Given the description of an element on the screen output the (x, y) to click on. 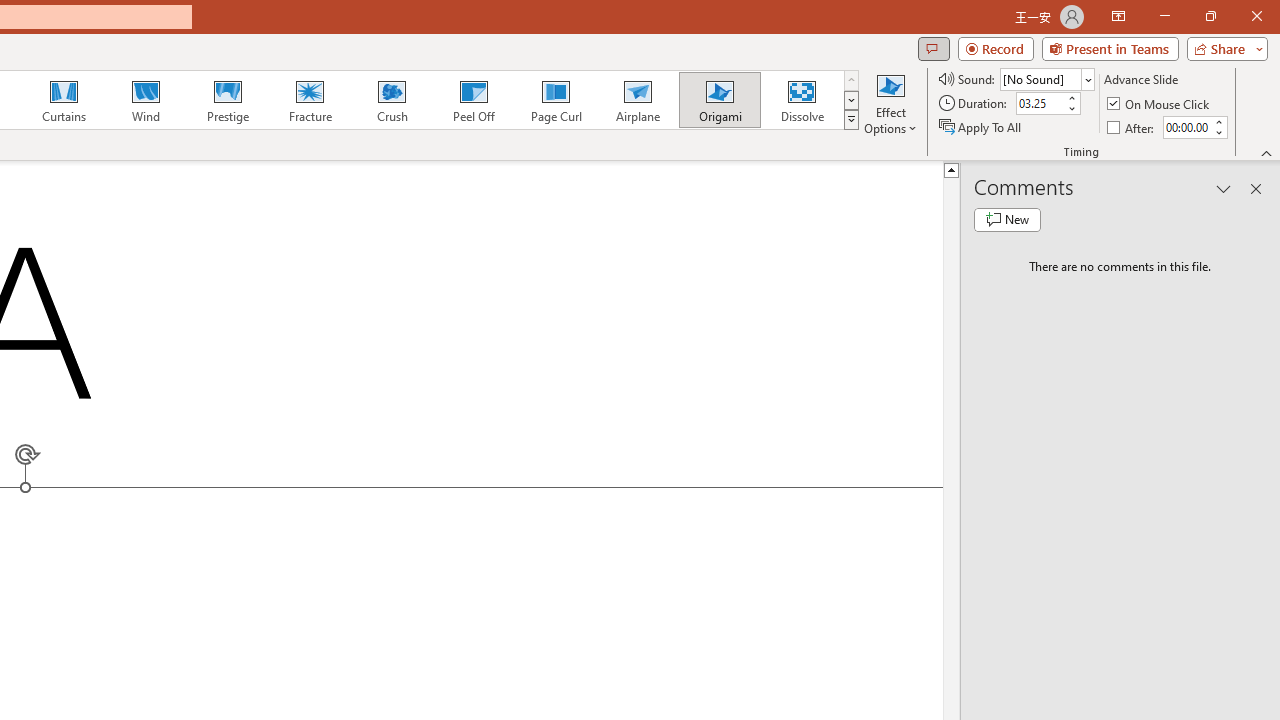
On Mouse Click (1159, 103)
Transition Effects (850, 120)
